Given the description of an element on the screen output the (x, y) to click on. 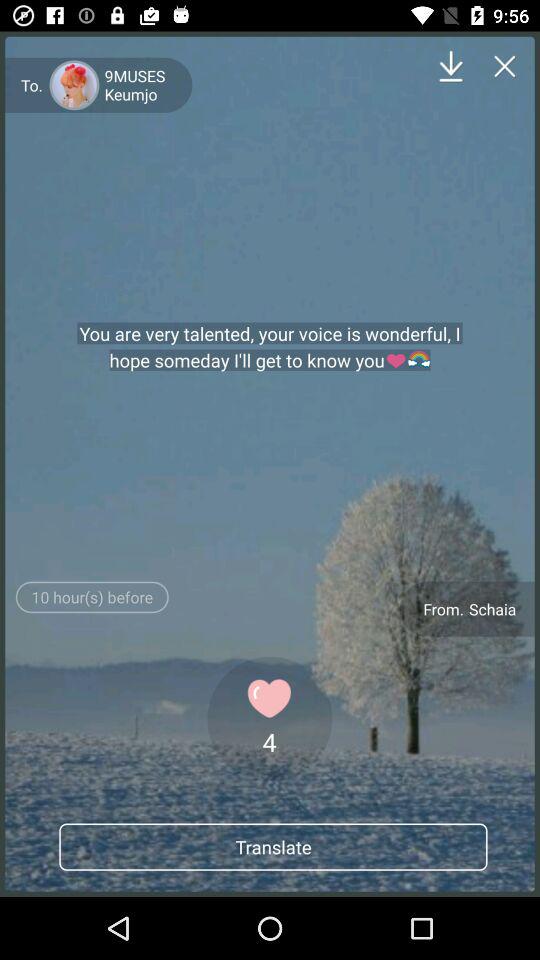
press item next to the 9muses
keumjo icon (450, 65)
